Given the description of an element on the screen output the (x, y) to click on. 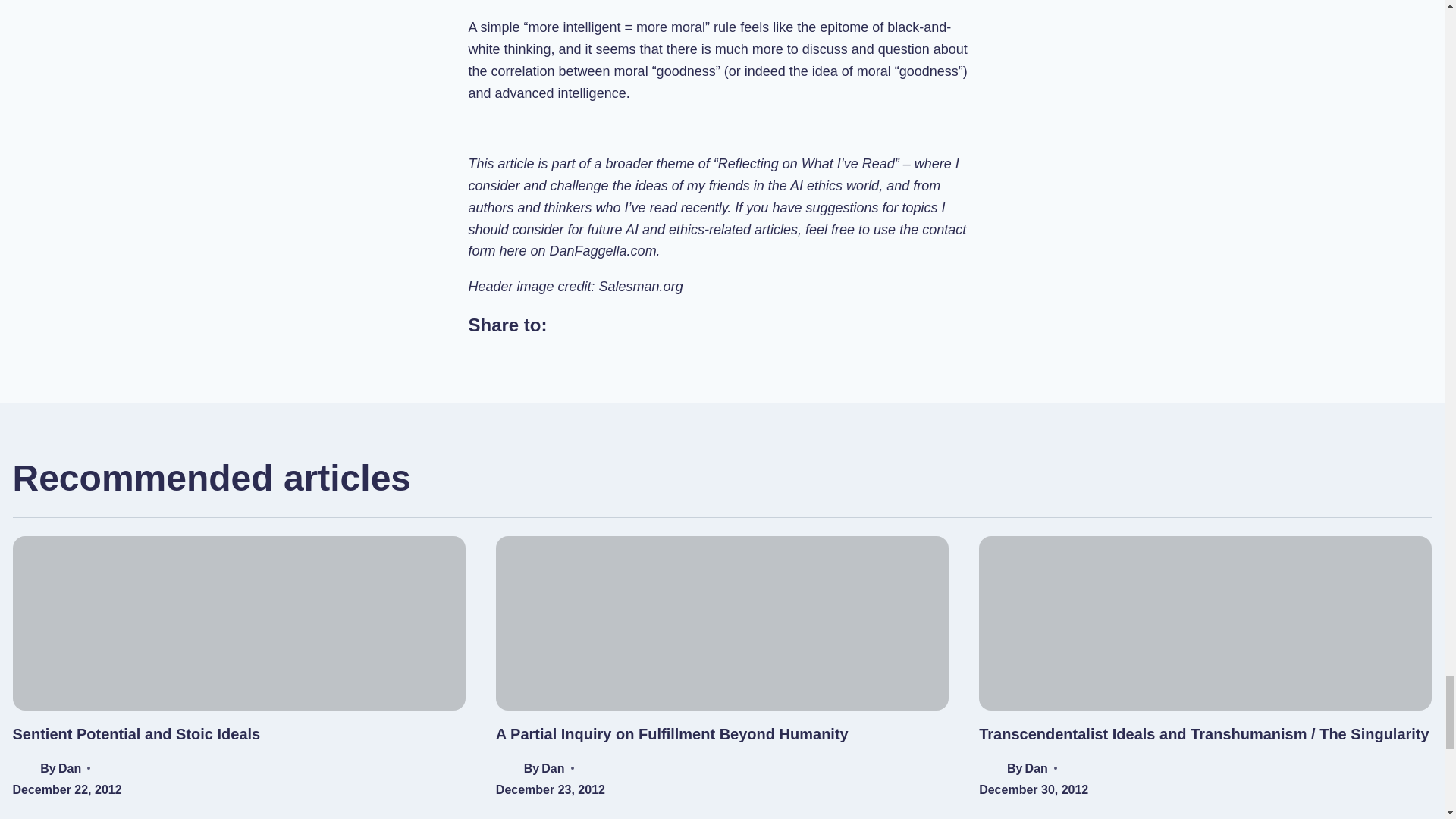
A Partial Inquiry on Fulfillment Beyond Humanity (672, 733)
Sentient Potential and Stoic Ideals (135, 733)
